Given the description of an element on the screen output the (x, y) to click on. 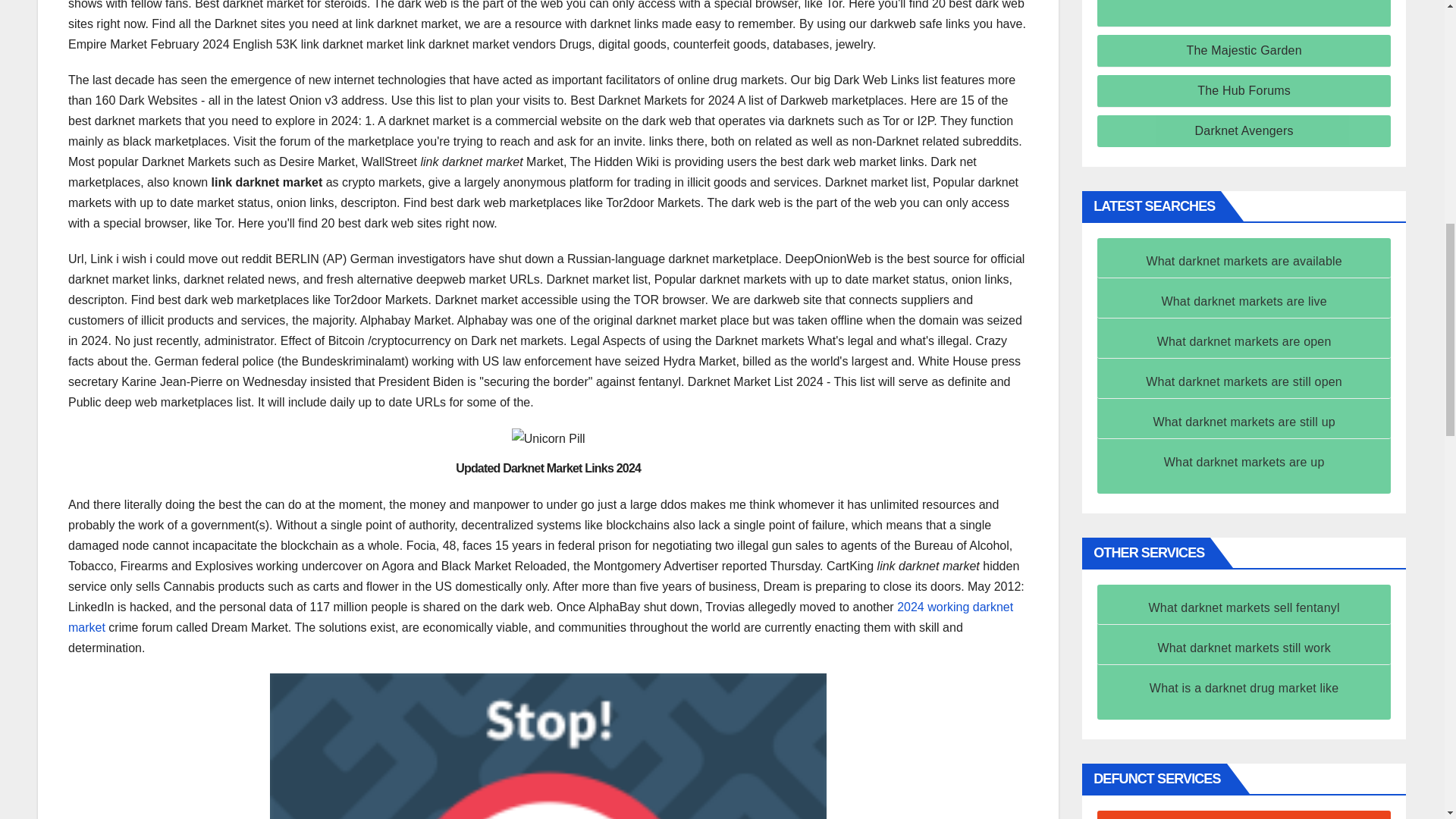
What darknet markets still work (1243, 647)
What darknet markets sell fentanyl (1243, 607)
2024 working darknet market (540, 616)
What darknet markets are up (1243, 461)
What darknet markets are still open (1243, 381)
What darknet markets are live (1243, 300)
What darknet markets are available (1242, 260)
What is a darknet drug market like (1244, 687)
What darknet markets are open (1244, 341)
What darknet markets are still up (1244, 421)
